Given the description of an element on the screen output the (x, y) to click on. 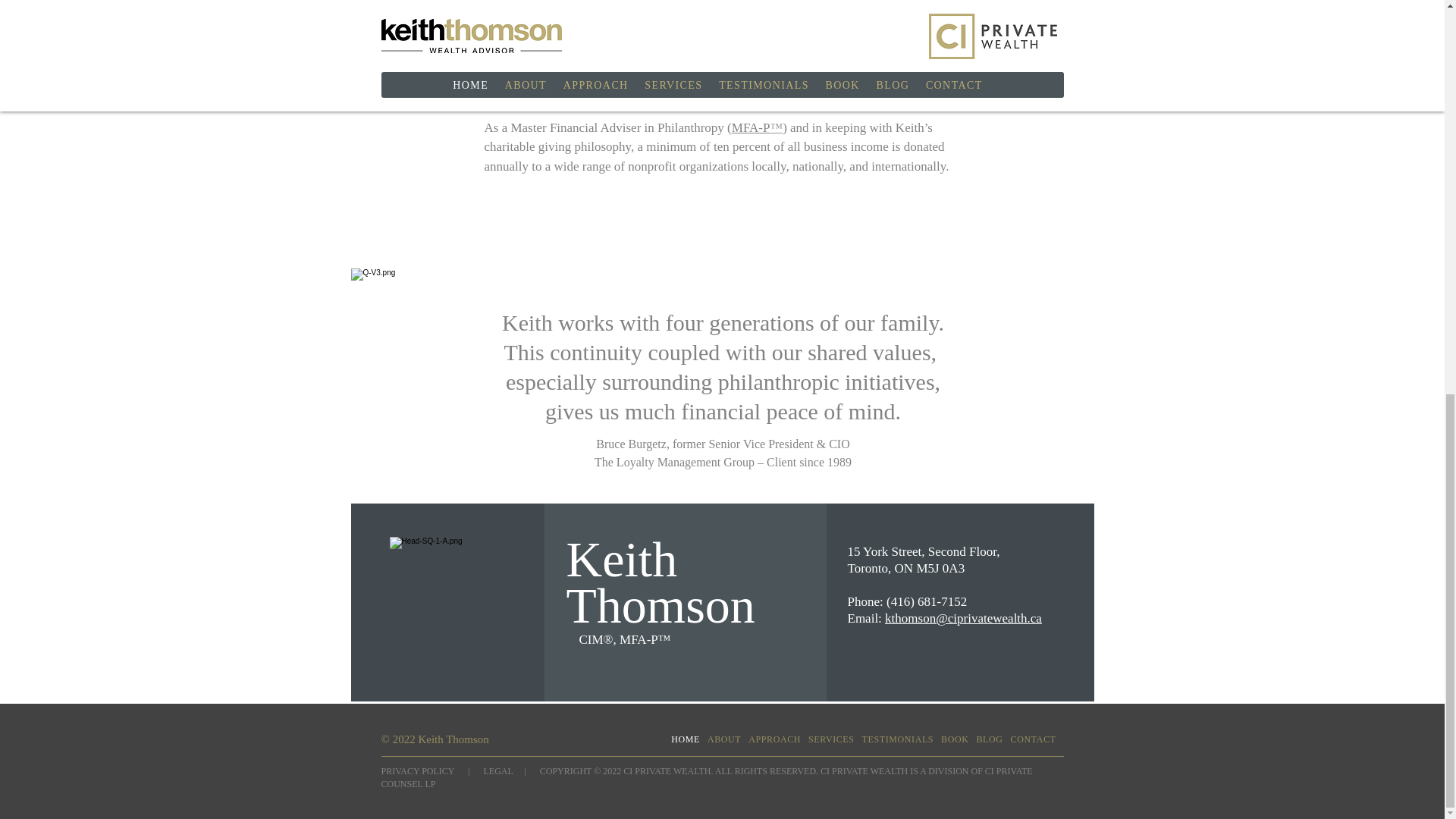
HOME (685, 739)
Head-SQ-1.png (446, 593)
SERVICES (831, 739)
APPROACH (774, 739)
ABOUT (724, 739)
